Given the description of an element on the screen output the (x, y) to click on. 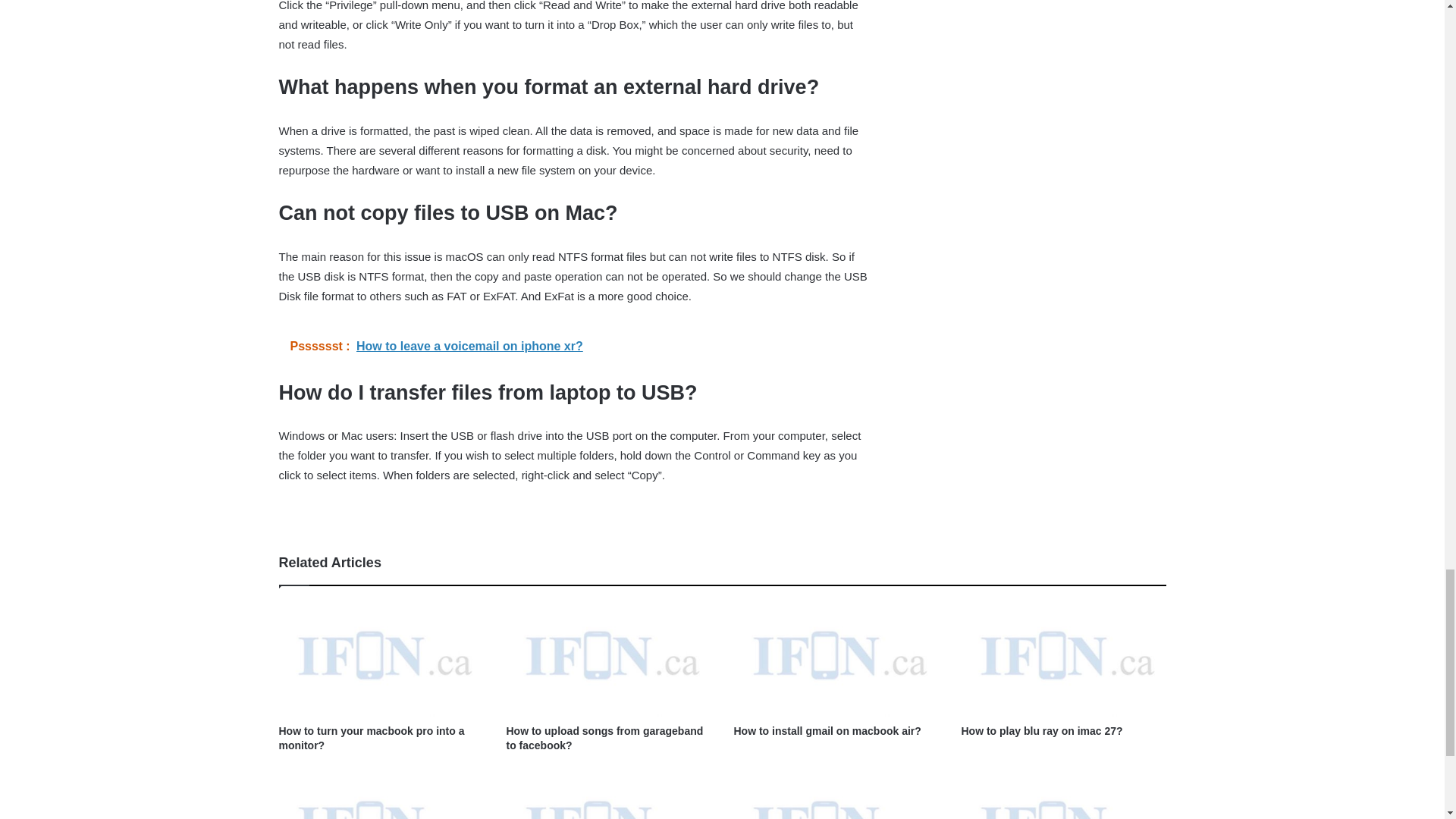
How to turn your macbook pro into a monitor? (371, 737)
How to upload songs from garageband to facebook? (604, 737)
How to install gmail on macbook air? (827, 730)
Psssssst :  How to leave a voicemail on iphone xr? (574, 346)
How to play blu ray on imac 27? (1041, 730)
